Given the description of an element on the screen output the (x, y) to click on. 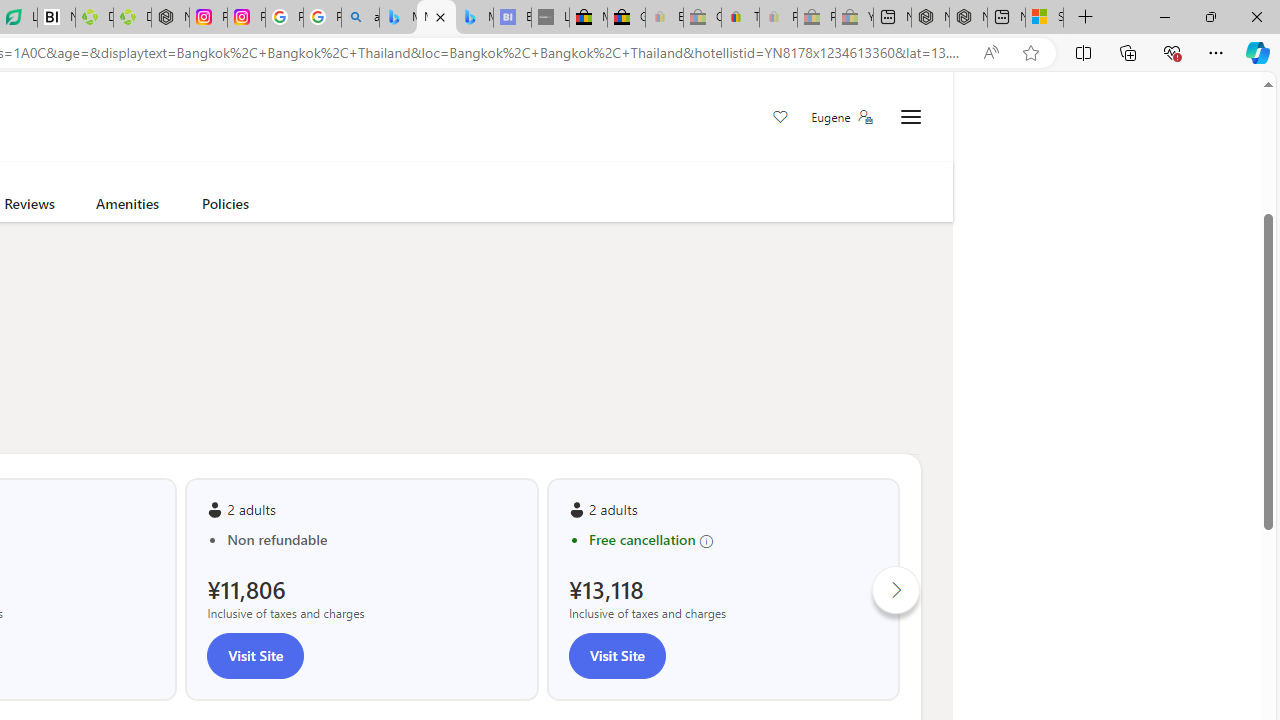
Save (780, 118)
Save (780, 118)
Yard, Garden & Outdoor Living - Sleeping (853, 17)
Eugene (841, 117)
